Given the description of an element on the screen output the (x, y) to click on. 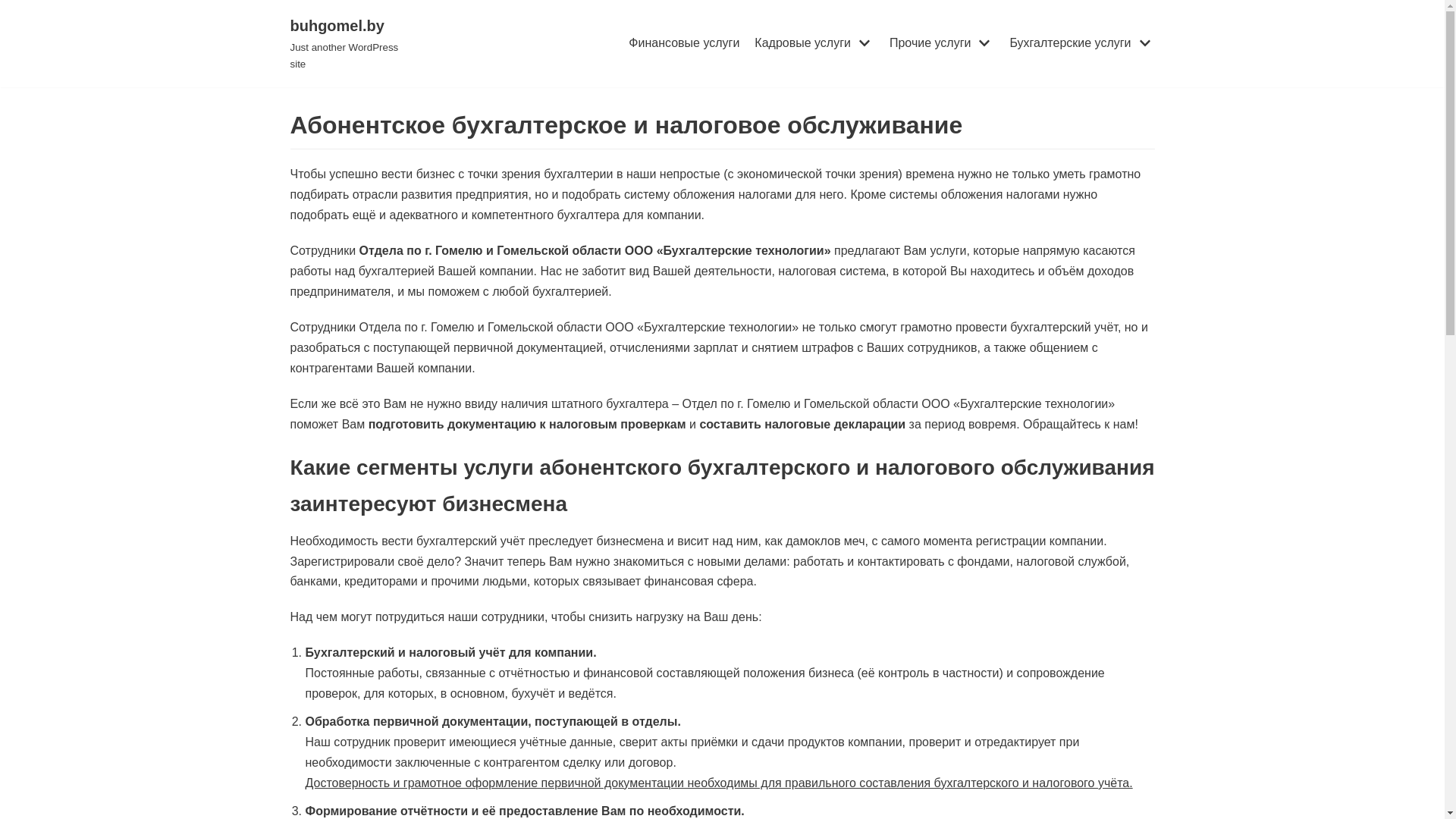
buhgomel.by
Just another WordPress site Element type: text (351, 43)
